Given the description of an element on the screen output the (x, y) to click on. 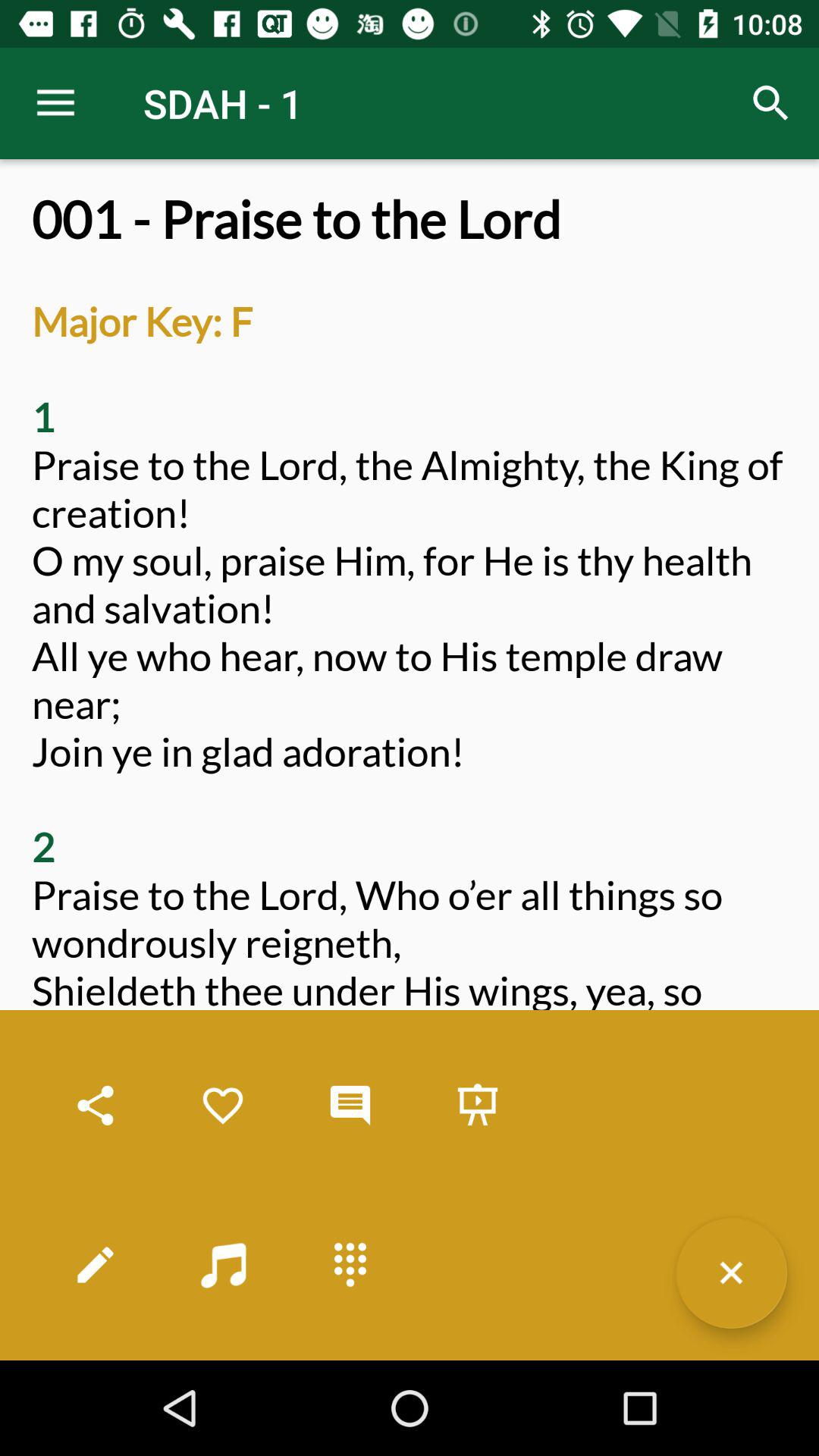
toggle to edit (95, 1264)
